Given the description of an element on the screen output the (x, y) to click on. 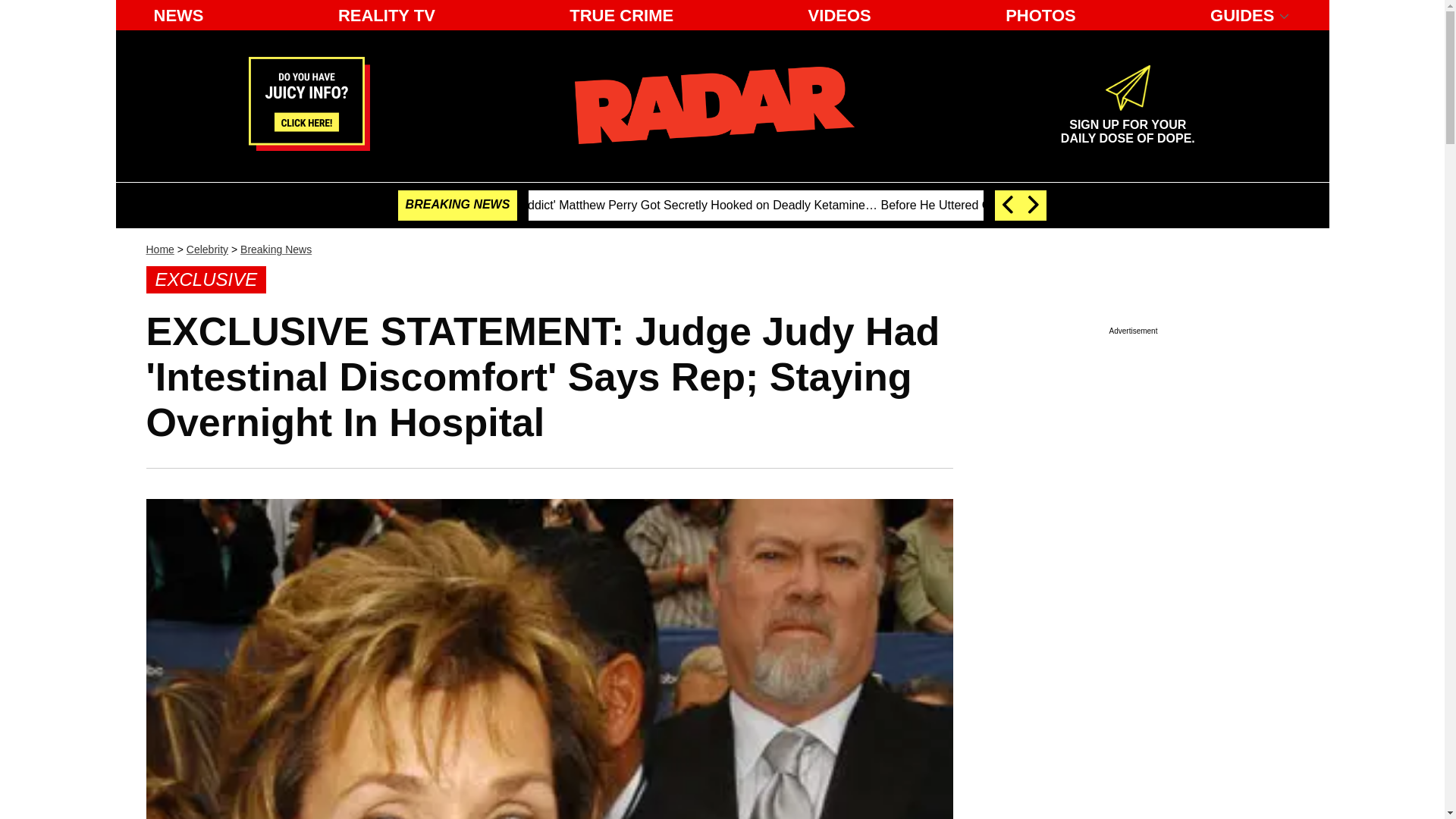
PHOTOS (1040, 15)
Home (159, 249)
Celebrity (207, 249)
Sign up for your daily dose of dope. (1127, 124)
Email us your tip (308, 146)
Radar Online (714, 105)
VIDEOS (1127, 124)
TRUE CRIME (839, 15)
NEWS (621, 15)
